Given the description of an element on the screen output the (x, y) to click on. 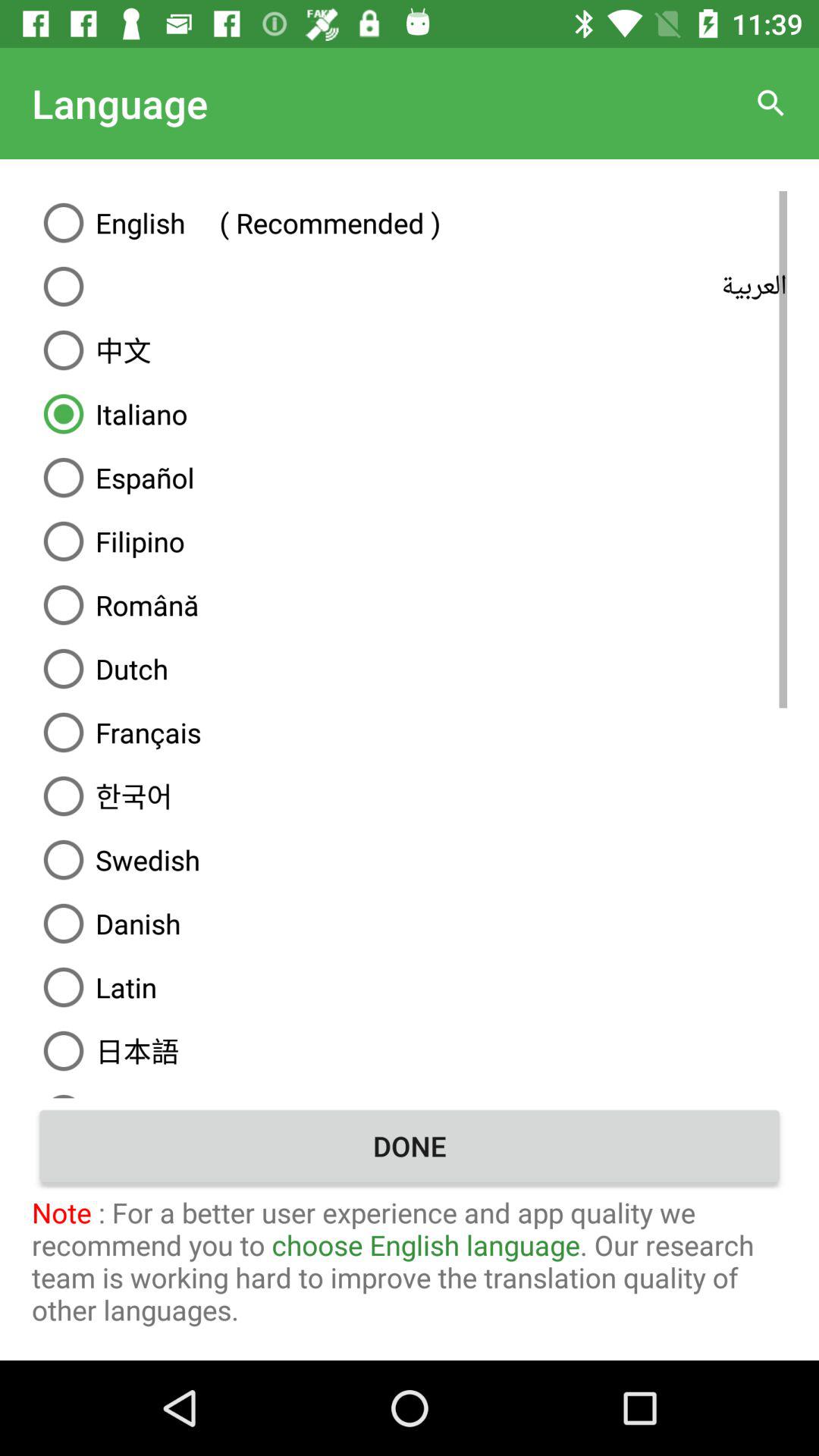
tap the icon below italiano (409, 477)
